Given the description of an element on the screen output the (x, y) to click on. 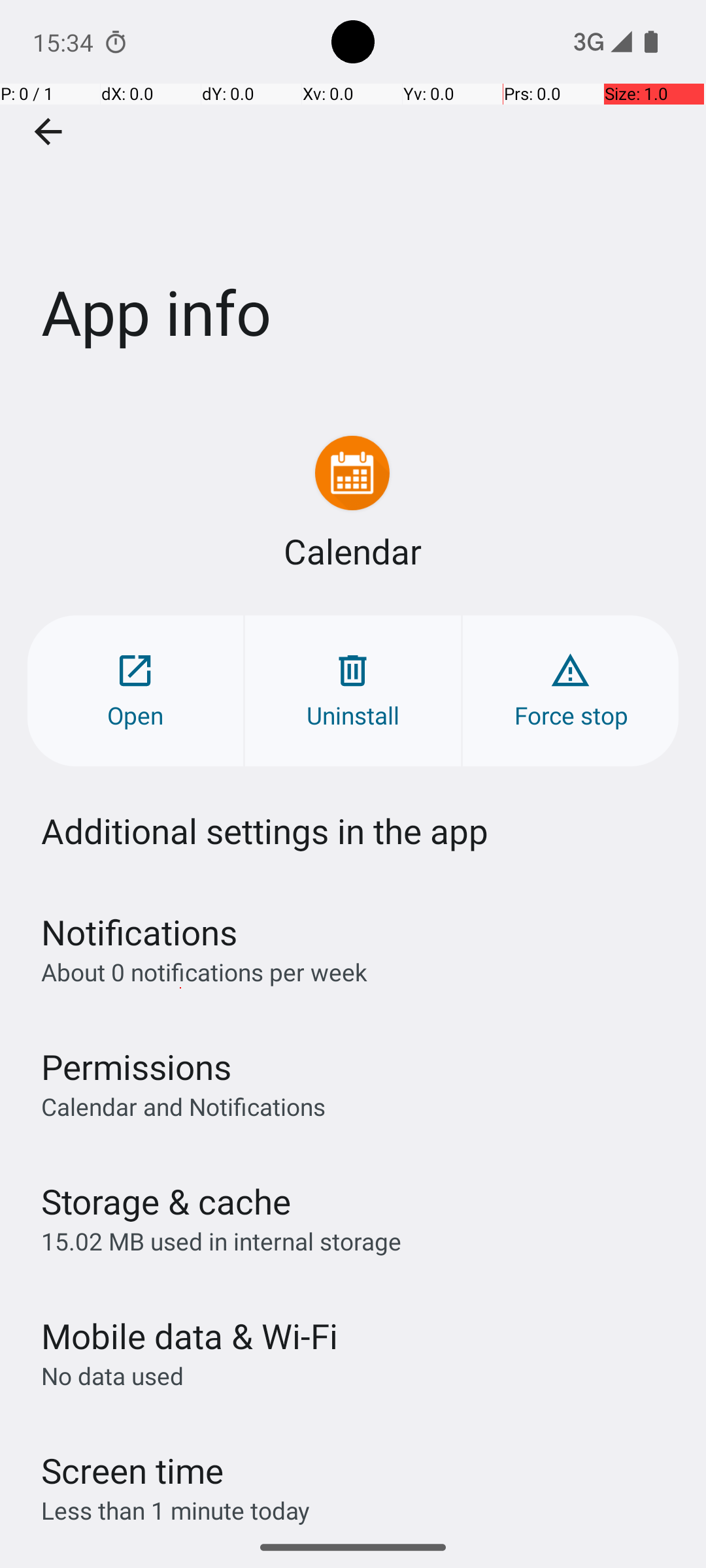
Additional settings in the app Element type: android.widget.TextView (264, 830)
Calendar and Notifications Element type: android.widget.TextView (183, 1106)
15.02 MB used in internal storage Element type: android.widget.TextView (221, 1240)
Less than 1 minute today Element type: android.widget.TextView (175, 1509)
